Given the description of an element on the screen output the (x, y) to click on. 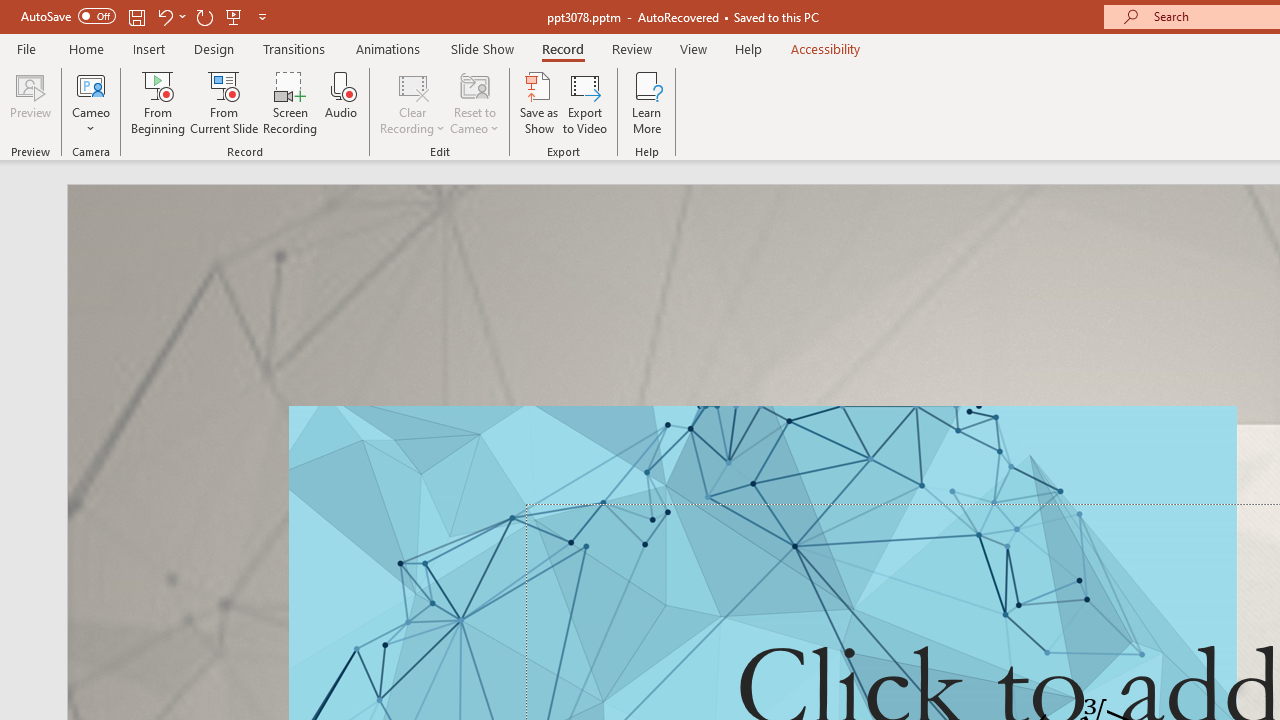
Screen Recording (290, 102)
Clear Recording (412, 102)
Save as Show (539, 102)
Cameo (91, 84)
Cameo (91, 102)
Export to Video (585, 102)
From Current Slide... (224, 102)
